Given the description of an element on the screen output the (x, y) to click on. 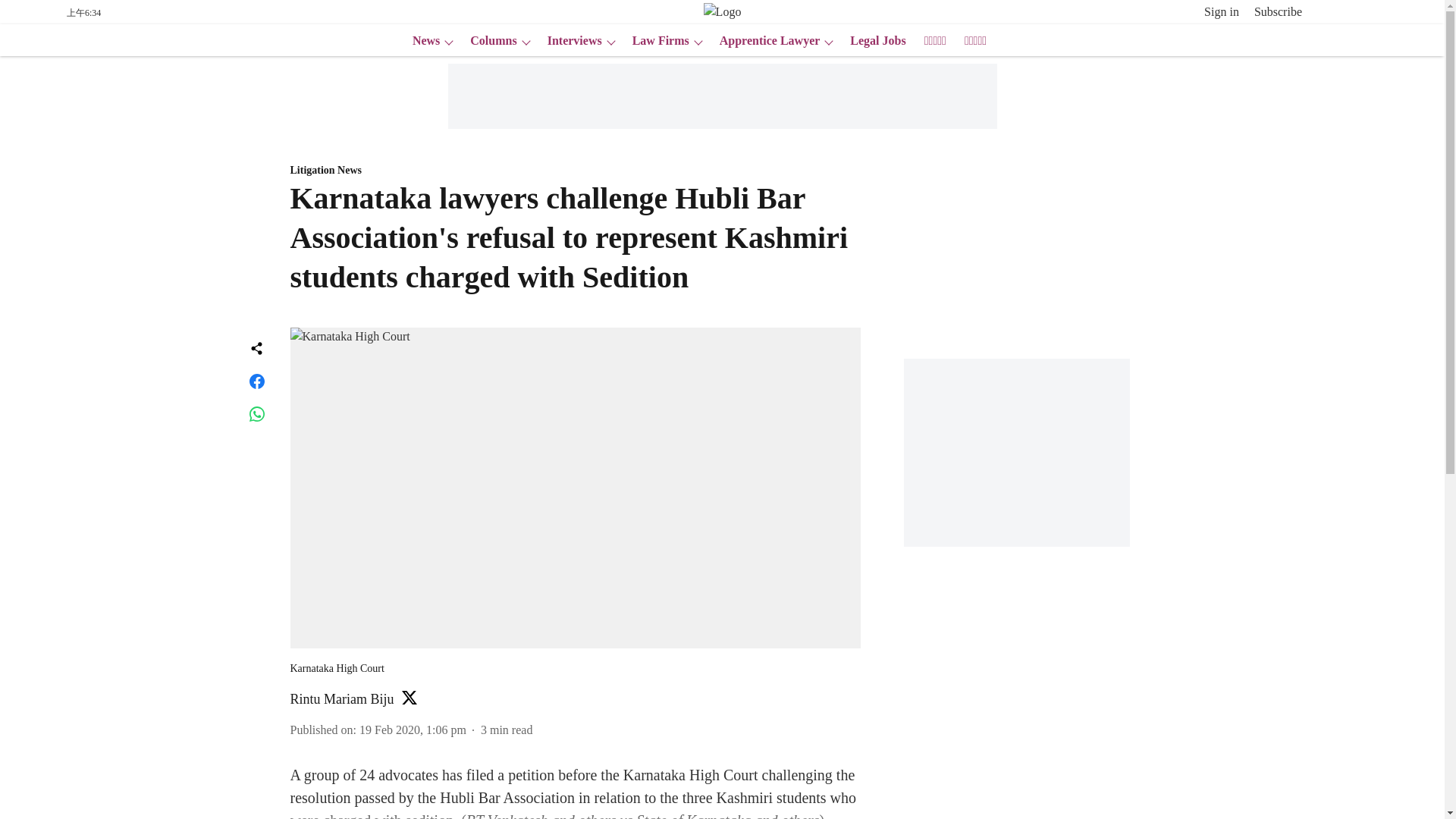
Columns (488, 40)
Rintu Mariam Biju (341, 698)
News (421, 40)
Litigation News (574, 170)
Law Firms (655, 40)
Legal Jobs (873, 40)
2020-02-19 05:06 (412, 729)
Apprentice Lawyer (765, 40)
Interviews (570, 40)
